Given the description of an element on the screen output the (x, y) to click on. 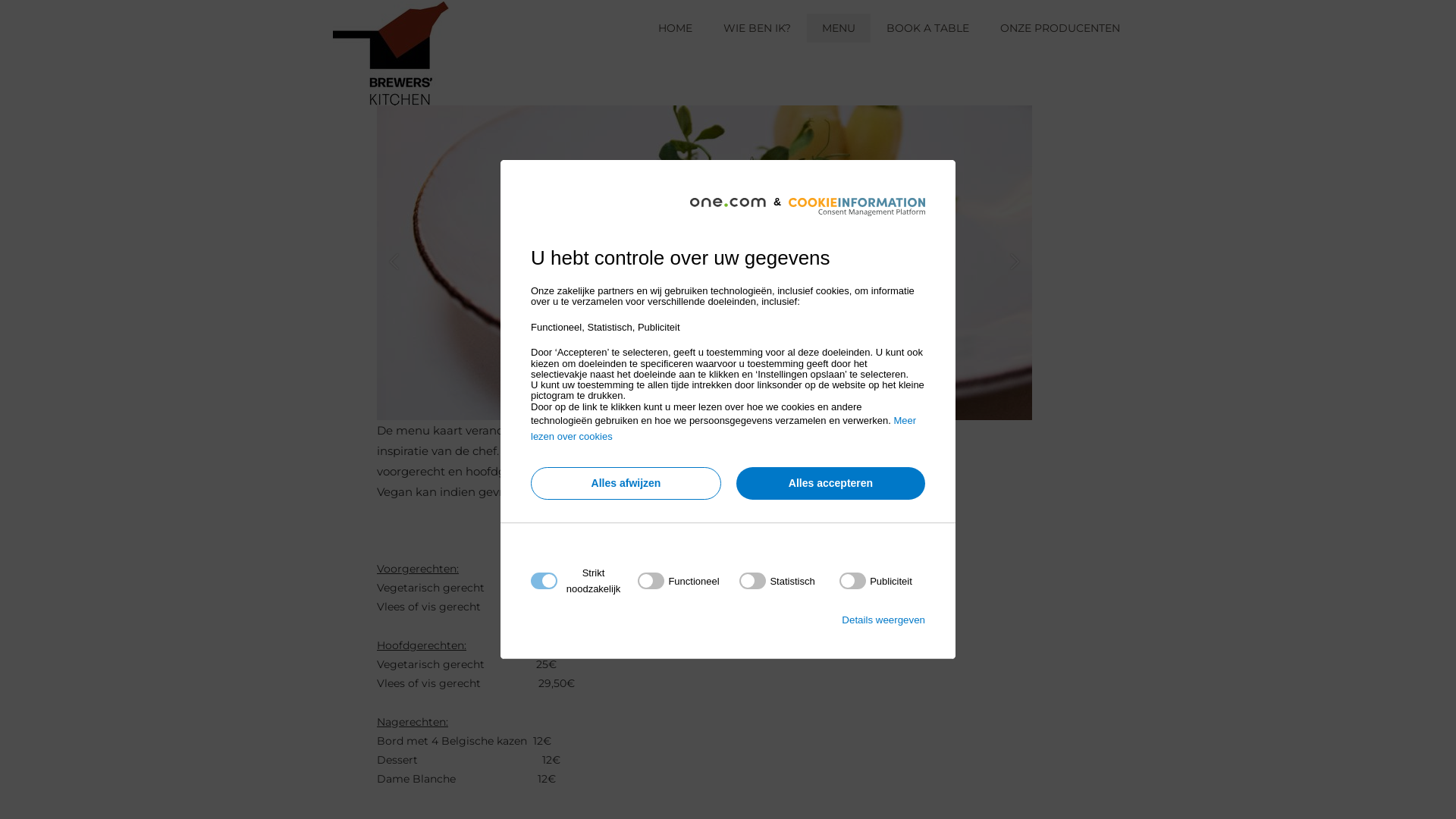
BOOK A TABLE Element type: text (927, 27)
Alles afwijzen Element type: text (625, 483)
reserveer je tafel Element type: text (932, 170)
Functioneel Element type: text (723, 763)
on Element type: text (677, 580)
Details weergeven Element type: text (883, 619)
on Element type: text (776, 580)
HOME Element type: text (675, 27)
on Element type: text (875, 580)
Meer lezen over cookies Element type: text (723, 428)
ONZE PRODUCENTEN Element type: text (1060, 27)
Alles accepteren Element type: text (830, 483)
Strikt noodzakelijk Element type: text (723, 673)
Brewers Kitchen_16 Element type: hover (704, 262)
WIE BEN IK? Element type: text (757, 27)
MENU Element type: text (838, 27)
